Given the description of an element on the screen output the (x, y) to click on. 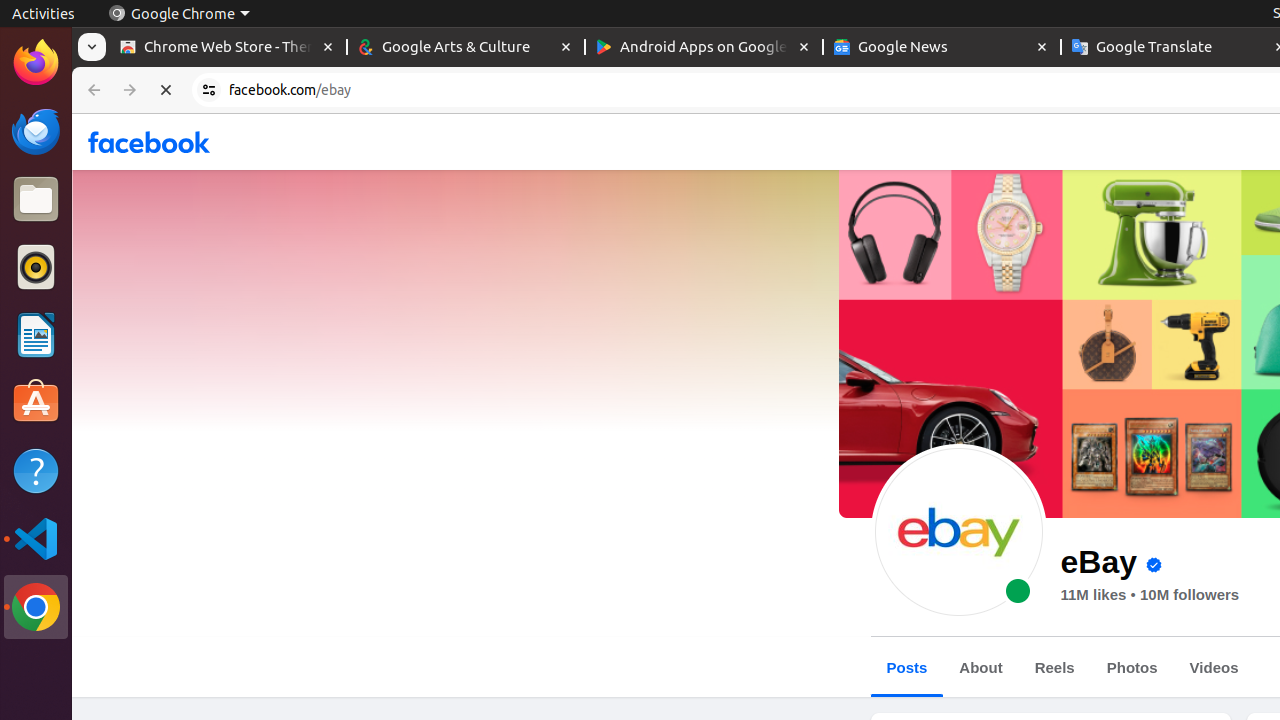
Thunderbird Mail Element type: push-button (36, 131)
Photos Element type: page-tab (1132, 667)
